Given the description of an element on the screen output the (x, y) to click on. 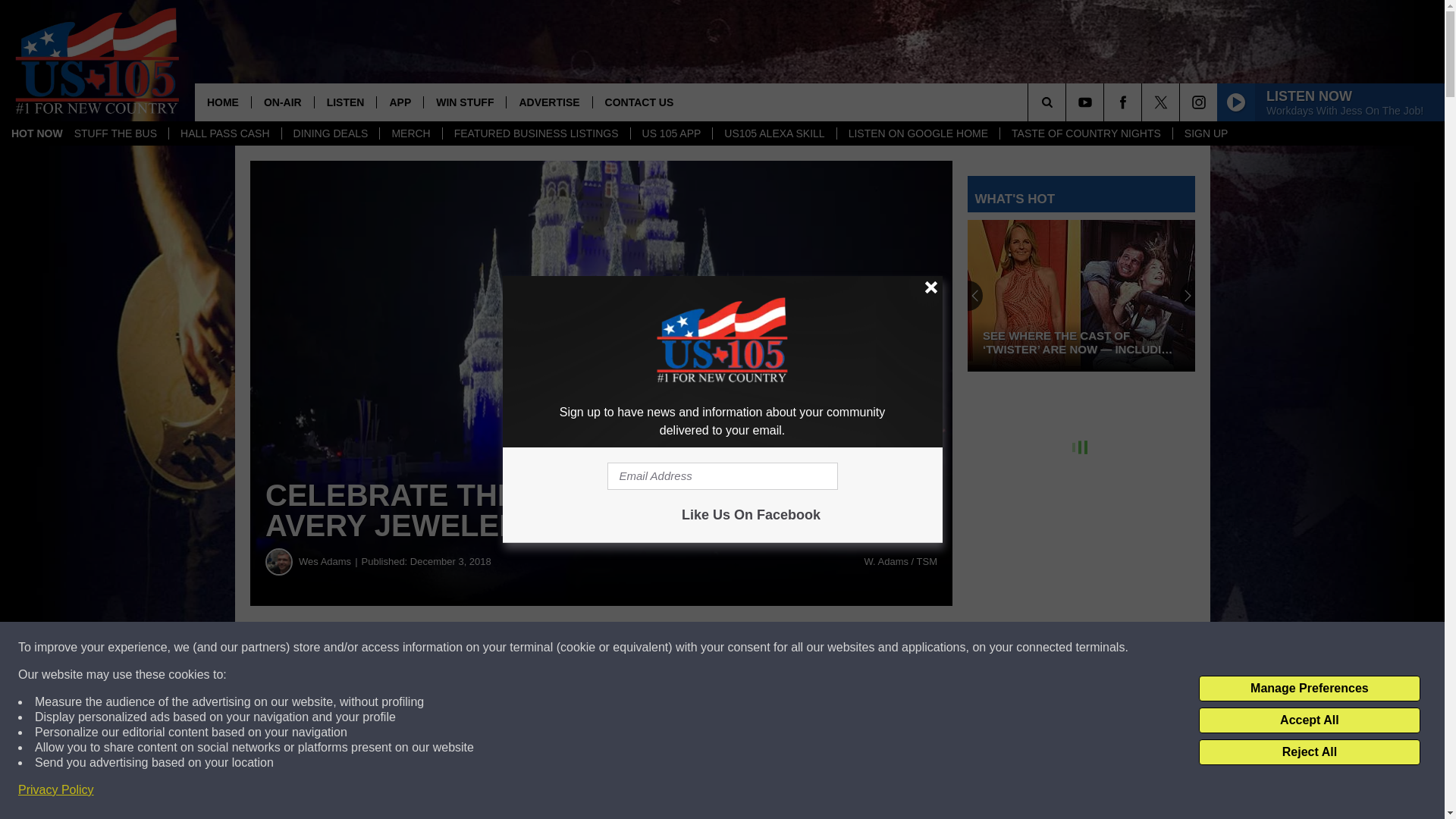
ON-AIR (282, 102)
SEARCH (1068, 102)
TASTE OF COUNTRY NIGHTS (1085, 133)
Email Address (722, 475)
Manage Preferences (1309, 688)
FEATURED BUSINESS LISTINGS (536, 133)
Privacy Policy (55, 789)
HOME (222, 102)
SIGN UP (1206, 133)
LISTEN (345, 102)
Share on Facebook (460, 647)
US105 ALEXA SKILL (773, 133)
Share on Twitter (741, 647)
Reject All (1309, 751)
DINING DEALS (330, 133)
